Given the description of an element on the screen output the (x, y) to click on. 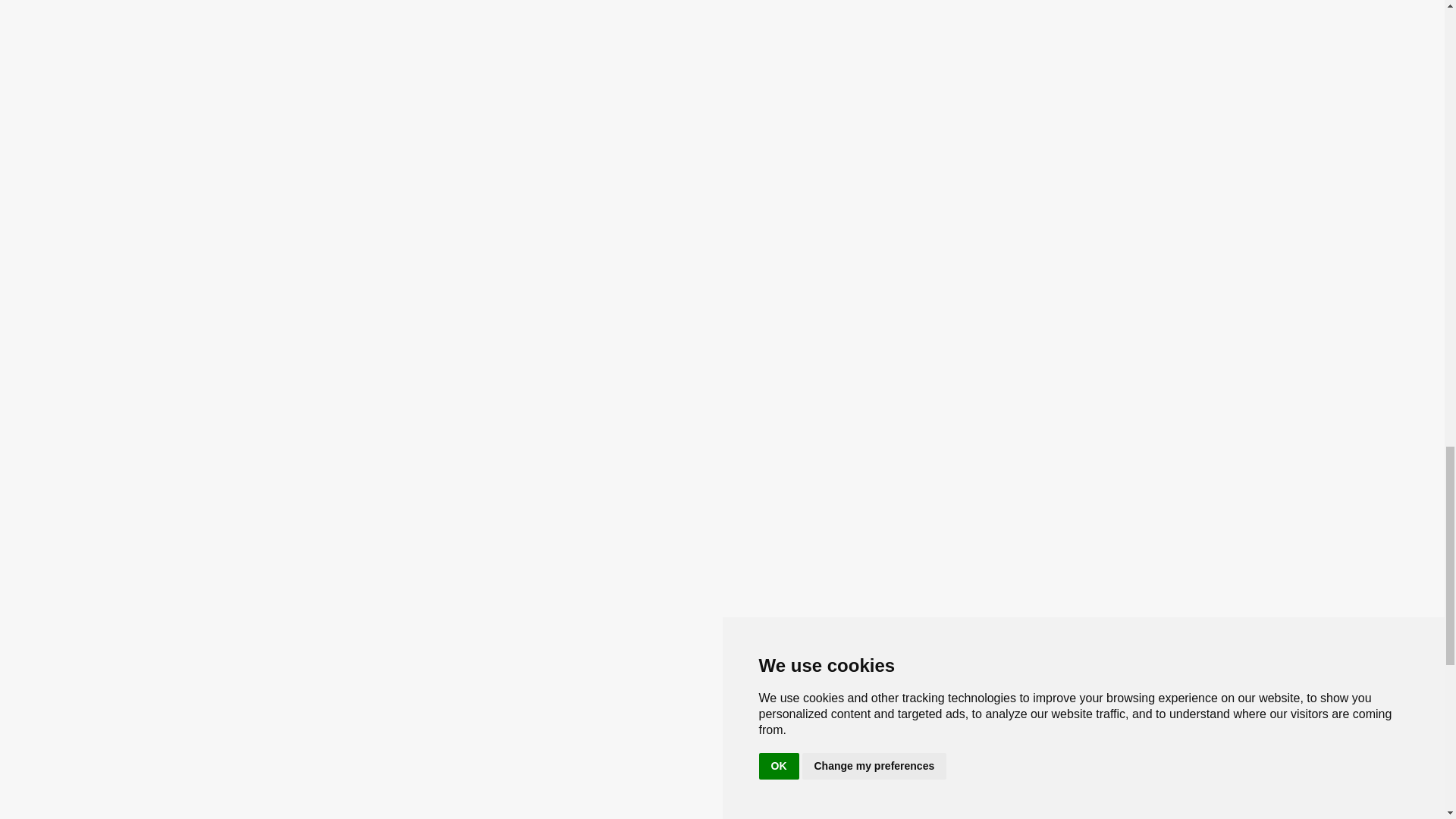
Invia (497, 753)
Invia (497, 753)
